Given the description of an element on the screen output the (x, y) to click on. 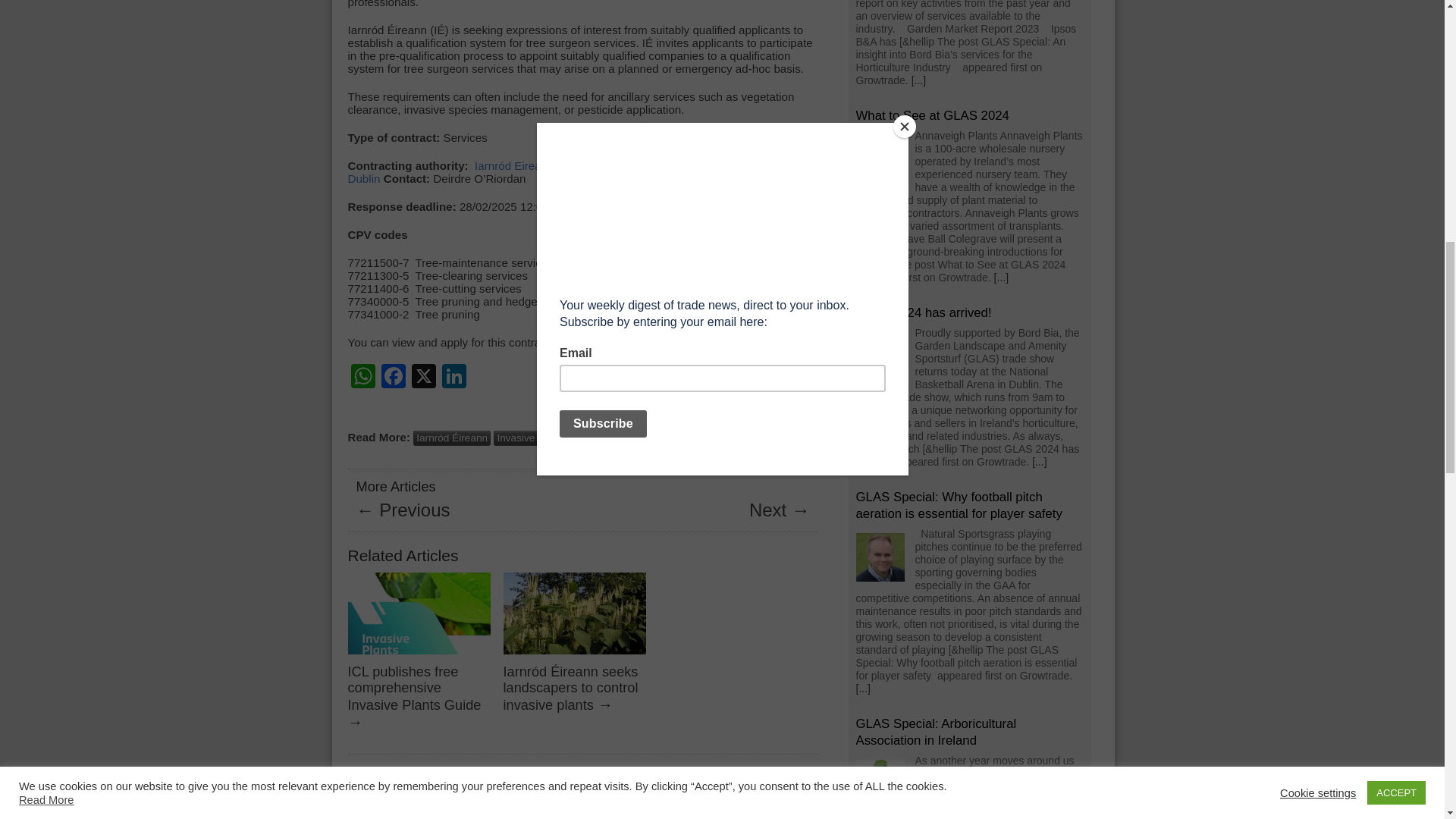
X (422, 377)
ICL publishes free comprehensive Invasive Plants Guide (413, 688)
Read more (862, 688)
Invasive Species (534, 437)
WhatsApp (362, 377)
GLAS 2024 has arrived! (923, 312)
Trees (688, 437)
here. (566, 341)
LinkedIn (453, 377)
Read more (1001, 277)
Tree maintenance (624, 437)
Read more (918, 80)
Read more (1039, 461)
